Given the description of an element on the screen output the (x, y) to click on. 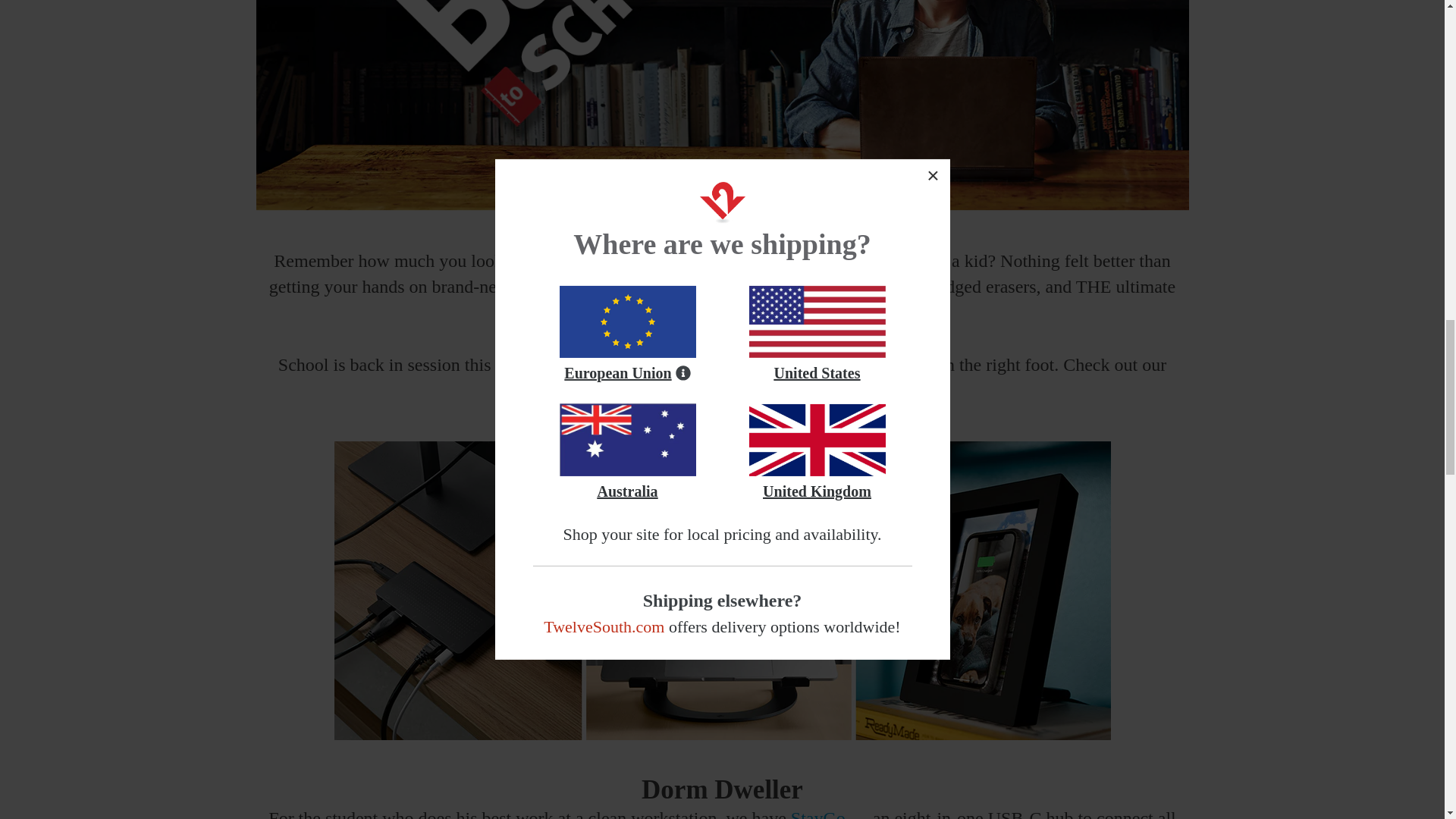
StayGo (817, 813)
